Given the description of an element on the screen output the (x, y) to click on. 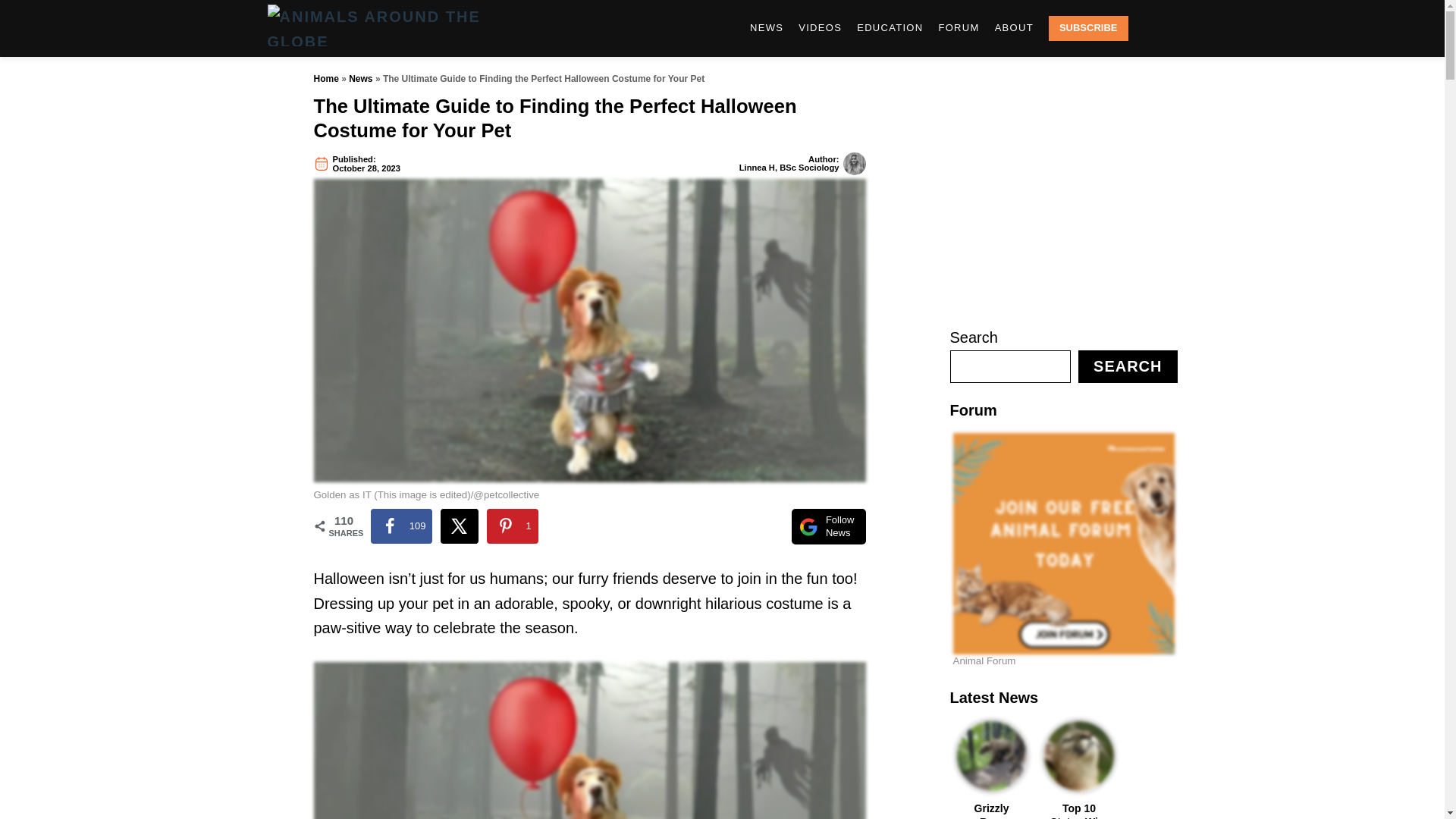
Share on X (460, 525)
SEARCH (1153, 28)
Save to Pinterest (512, 525)
FORUM (958, 27)
NEWS (766, 27)
Share on Facebook (399, 525)
EDUCATION (889, 27)
VIDEOS (819, 27)
Animals Around The Globe (403, 28)
